Given the description of an element on the screen output the (x, y) to click on. 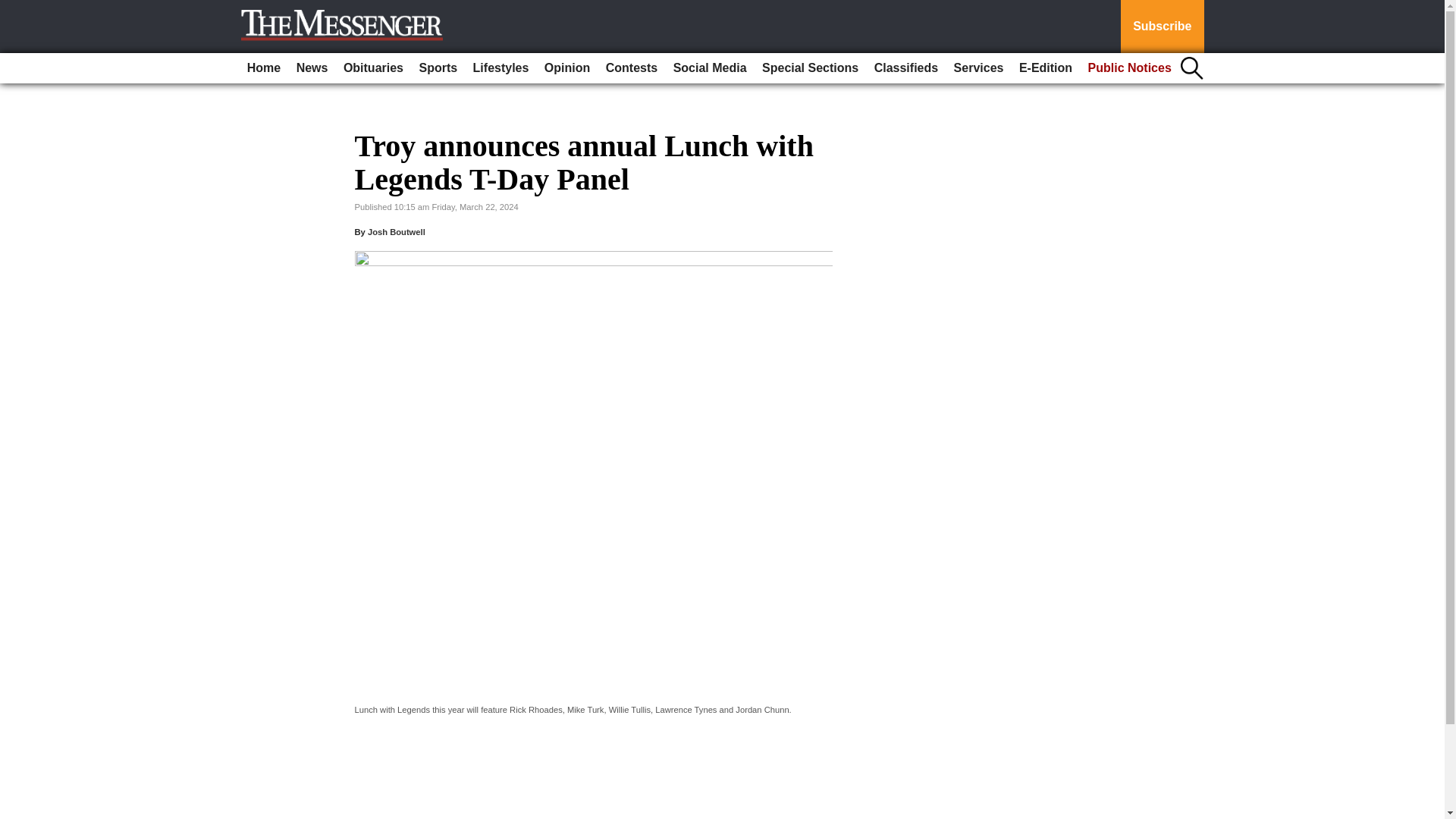
Sports (437, 68)
Classifieds (905, 68)
Subscribe (1162, 26)
Lifestyles (501, 68)
Opinion (566, 68)
Home (263, 68)
Contests (631, 68)
Obituaries (373, 68)
Public Notices (1129, 68)
E-Edition (1045, 68)
